Given the description of an element on the screen output the (x, y) to click on. 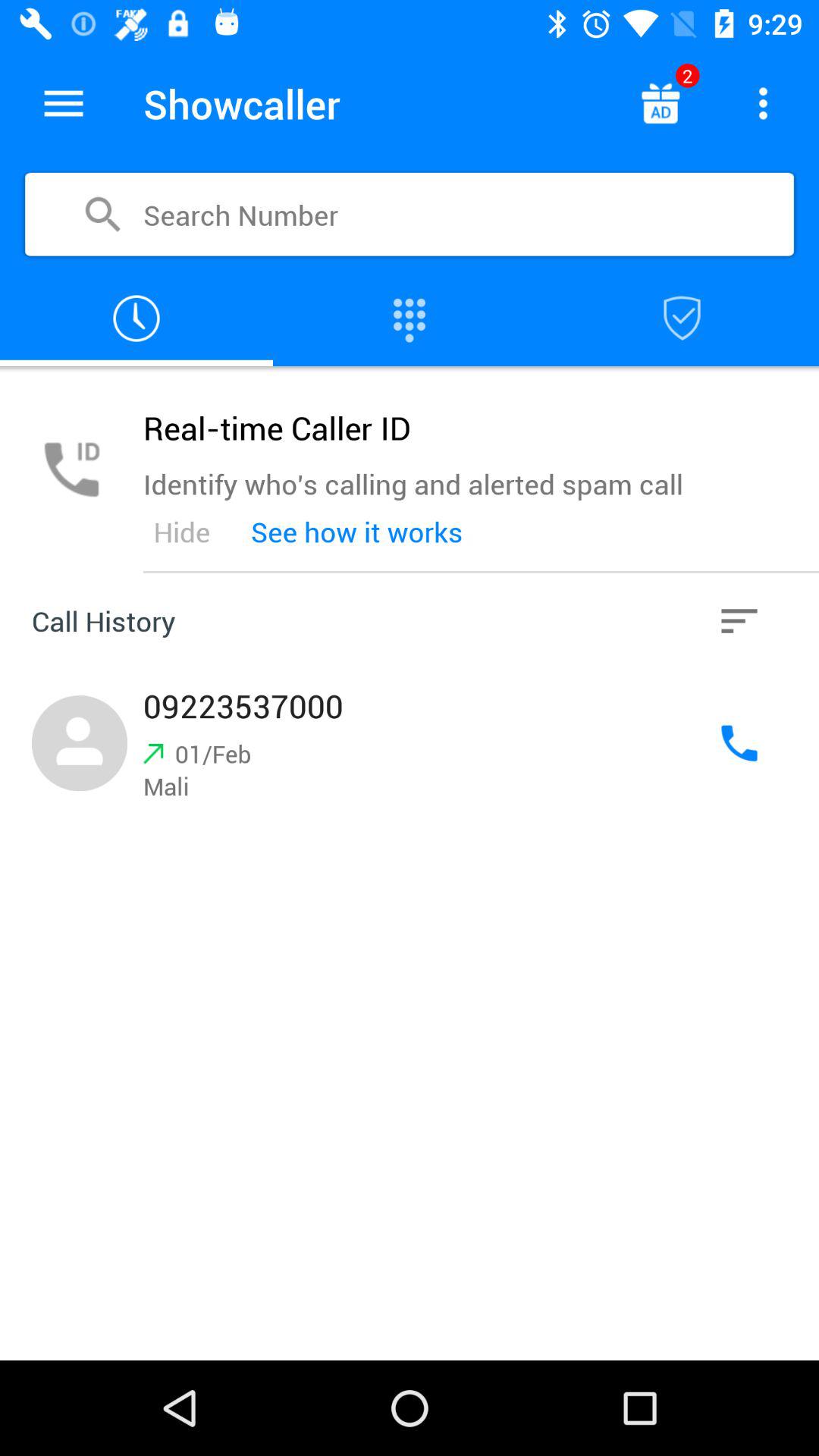
opens the app 's contacts block list (682, 318)
